Given the description of an element on the screen output the (x, y) to click on. 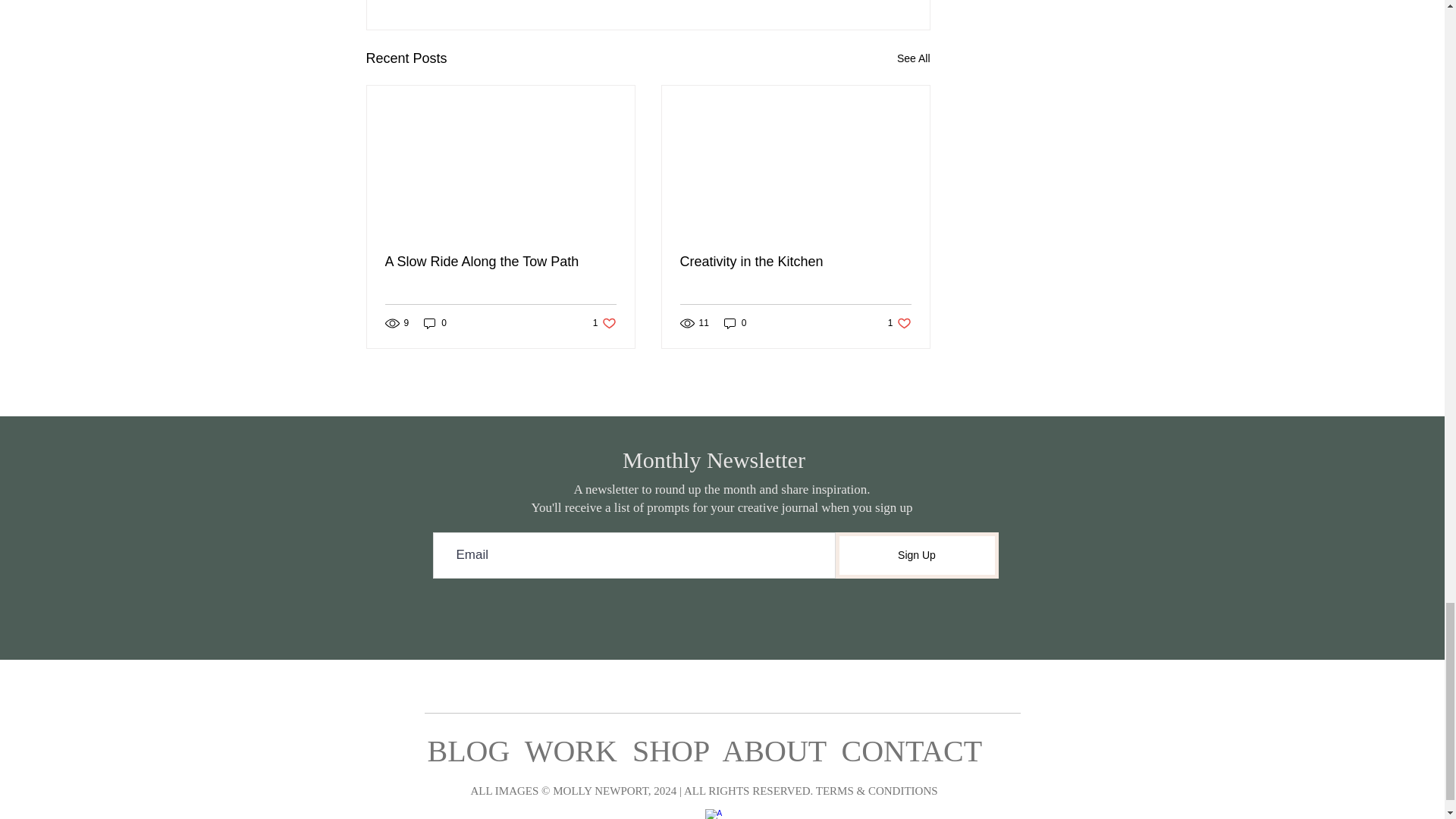
0 (435, 323)
A Slow Ride Along the Tow Path (603, 323)
See All (500, 261)
